Given the description of an element on the screen output the (x, y) to click on. 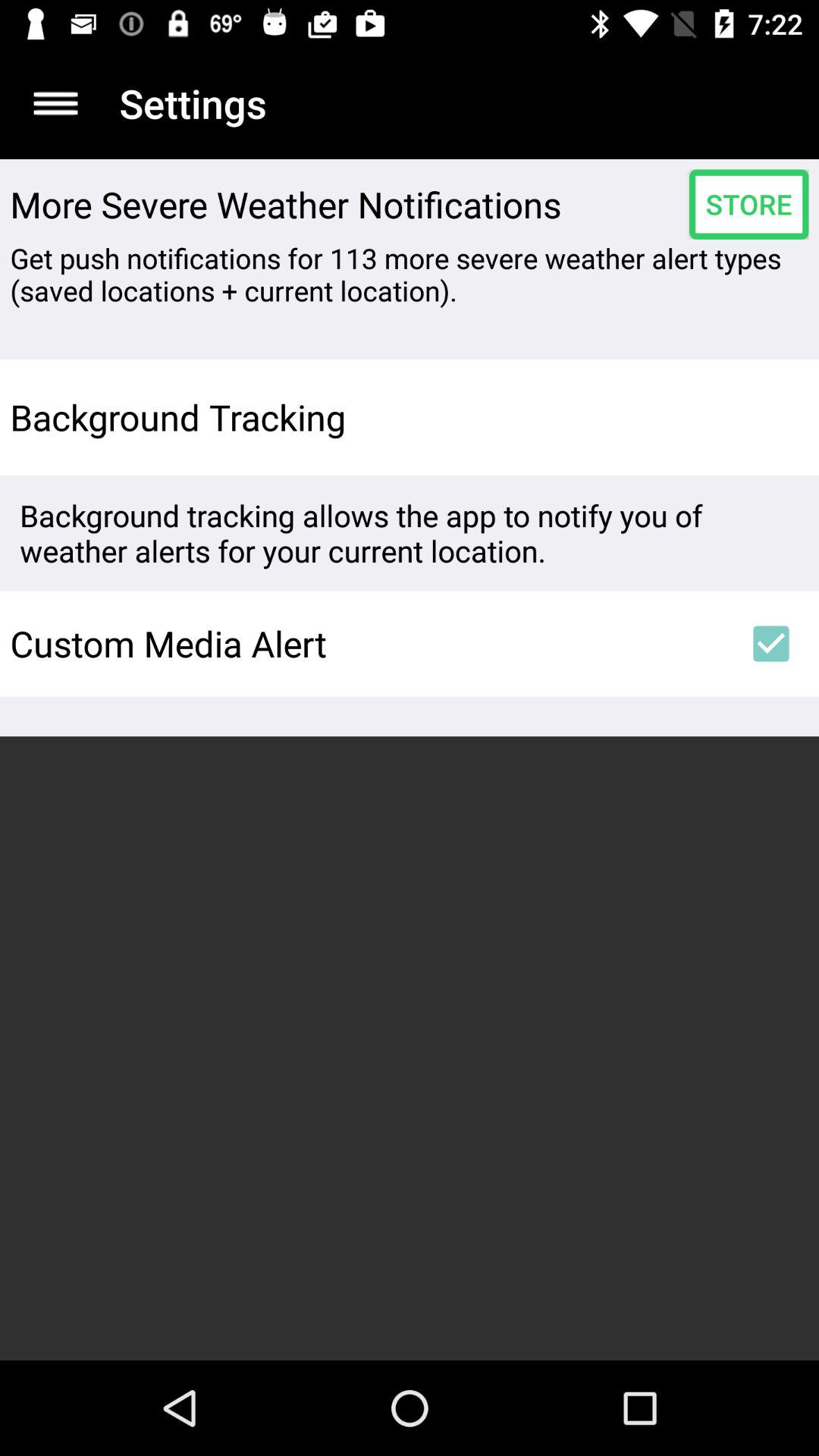
press icon next to more severe weather (748, 204)
